Given the description of an element on the screen output the (x, y) to click on. 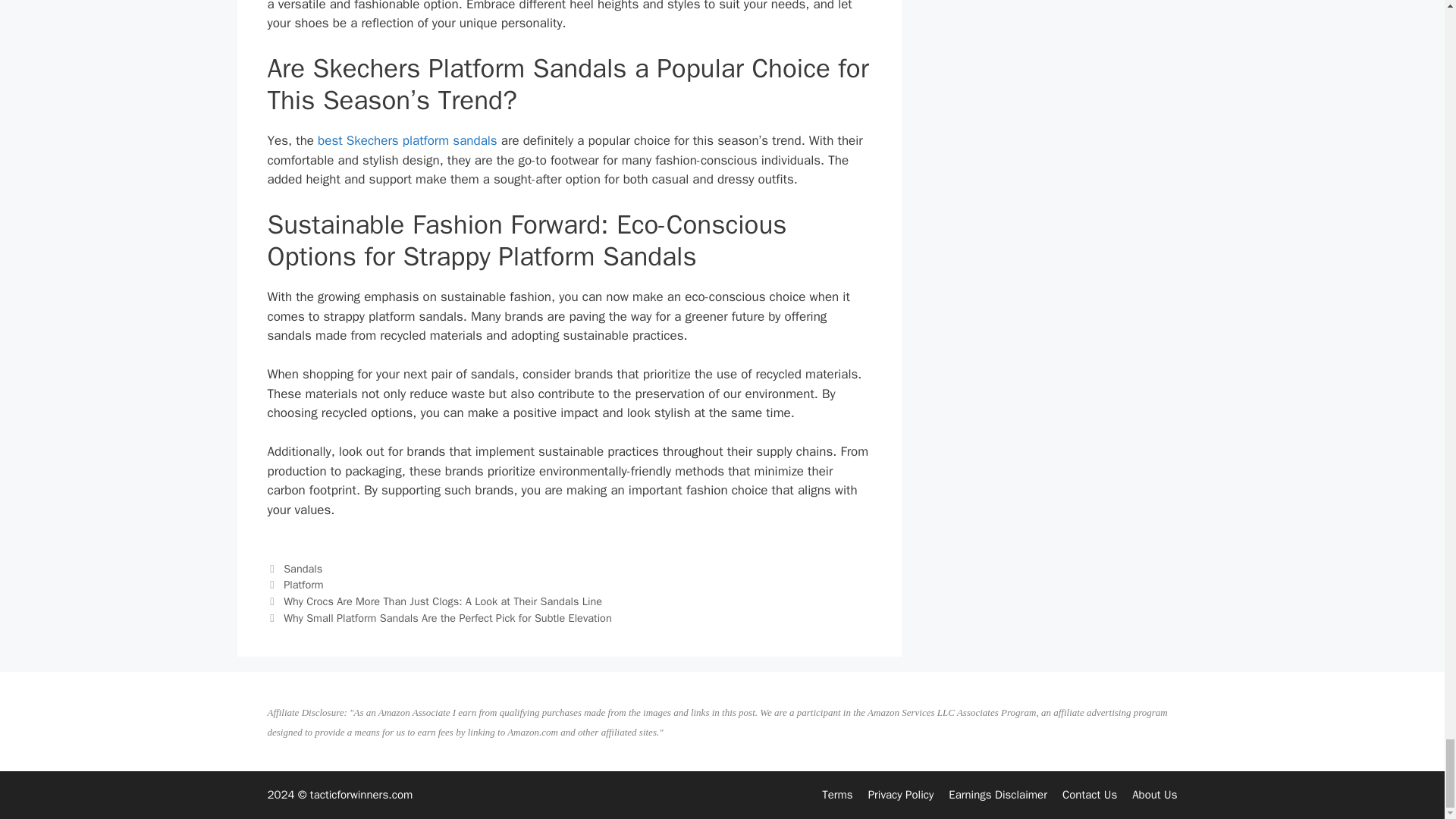
Sandals (302, 568)
Contact Us (1089, 794)
Platform (303, 584)
About Us (1154, 794)
Earnings Disclaimer (997, 794)
Privacy Policy (900, 794)
best Skechers platform sandals (407, 140)
Terms (836, 794)
